Given the description of an element on the screen output the (x, y) to click on. 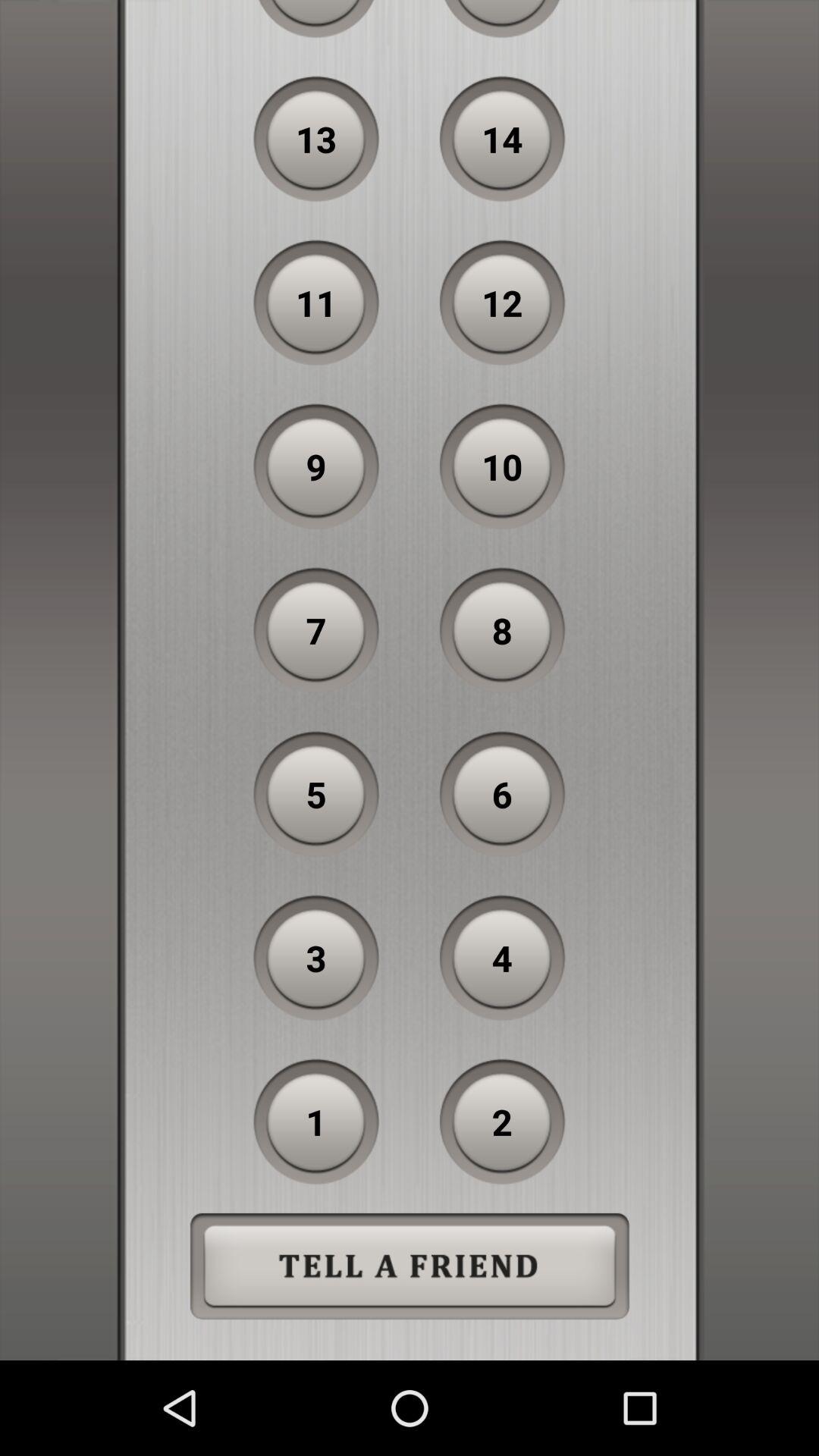
choose the 8 button (502, 630)
